Given the description of an element on the screen output the (x, y) to click on. 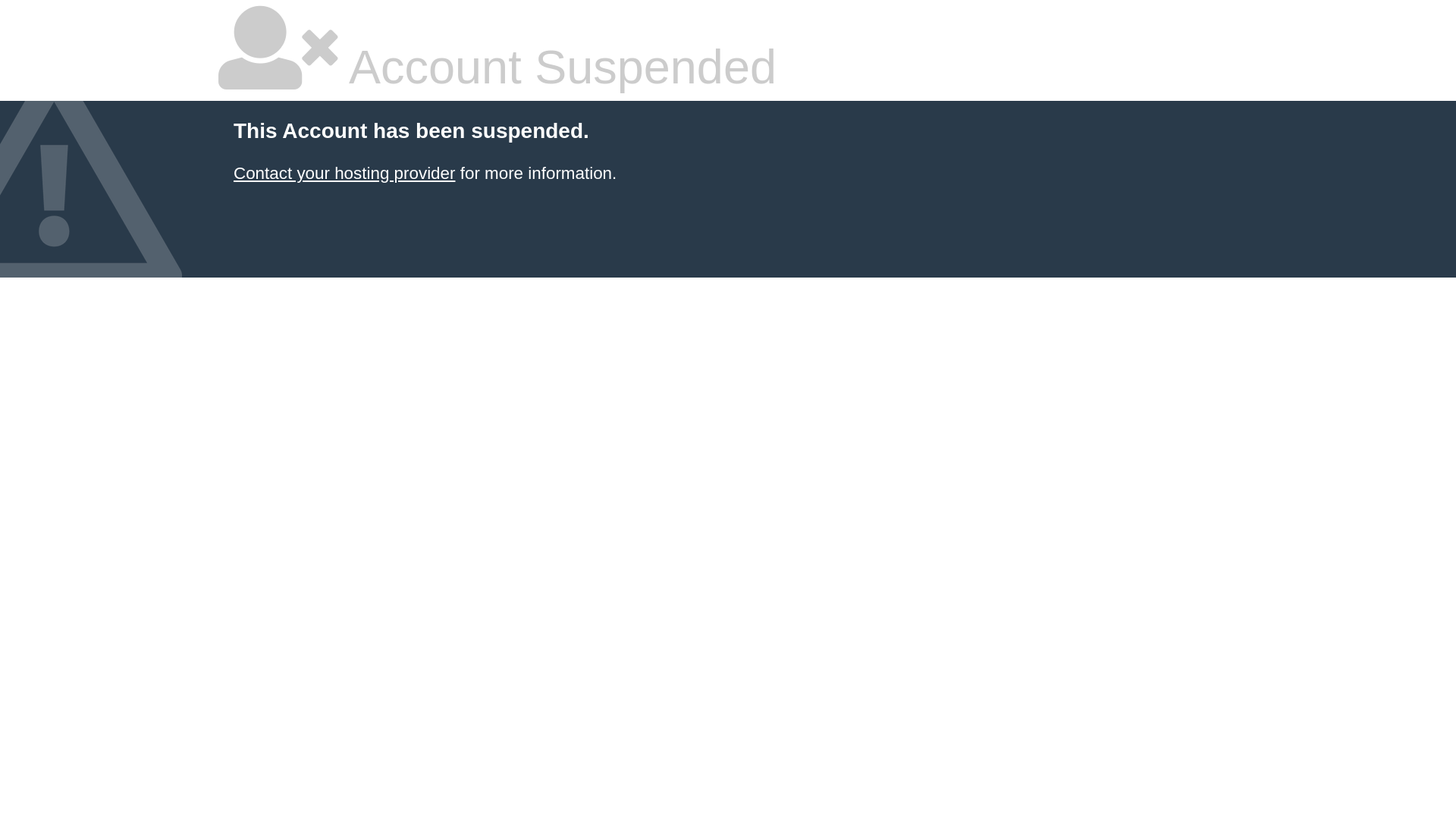
Contact your hosting provider Element type: text (344, 172)
